Given the description of an element on the screen output the (x, y) to click on. 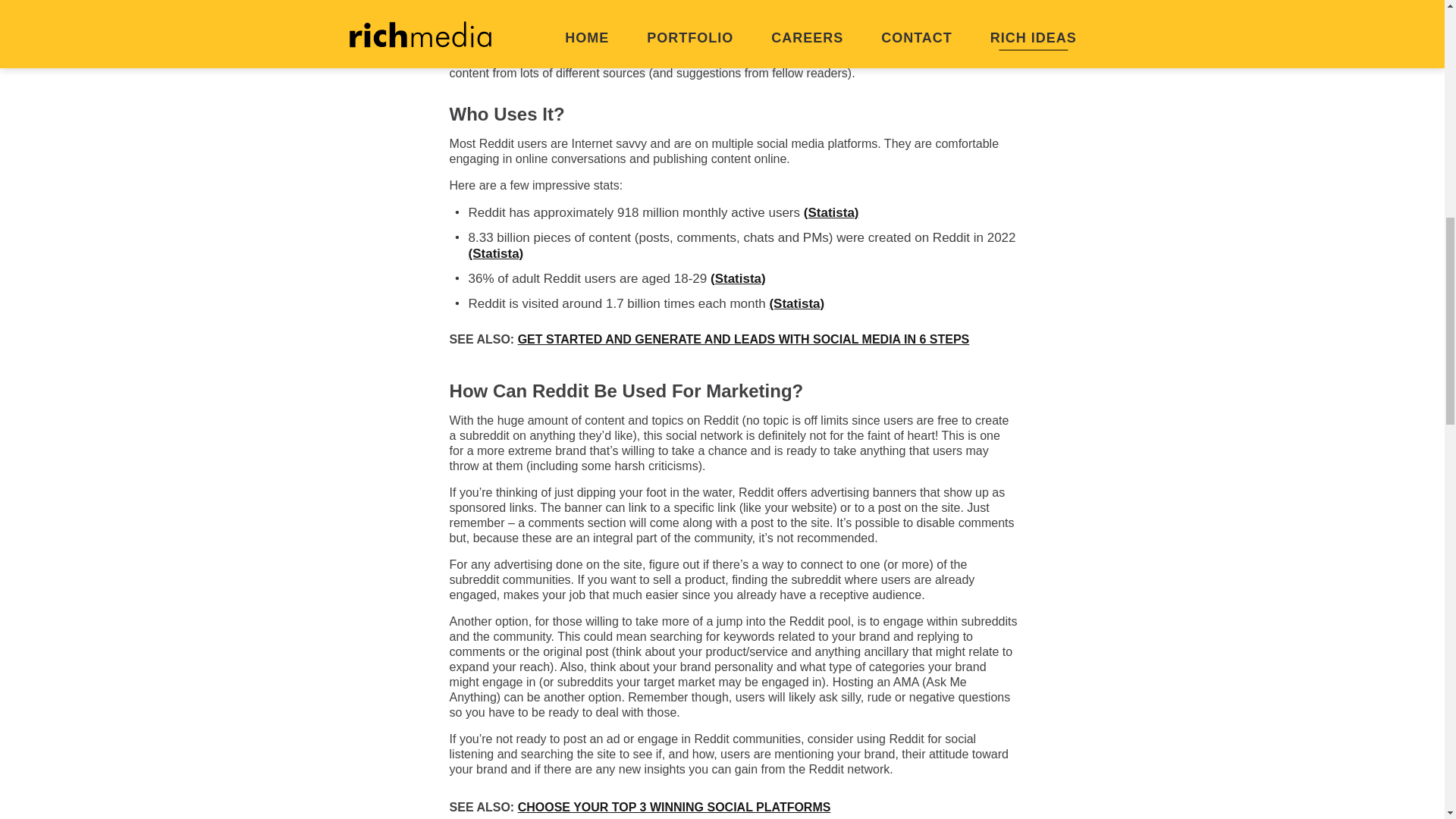
CHOOSE YOUR TOP 3 WINNING SOCIAL PLATFORMS (674, 807)
